Given the description of an element on the screen output the (x, y) to click on. 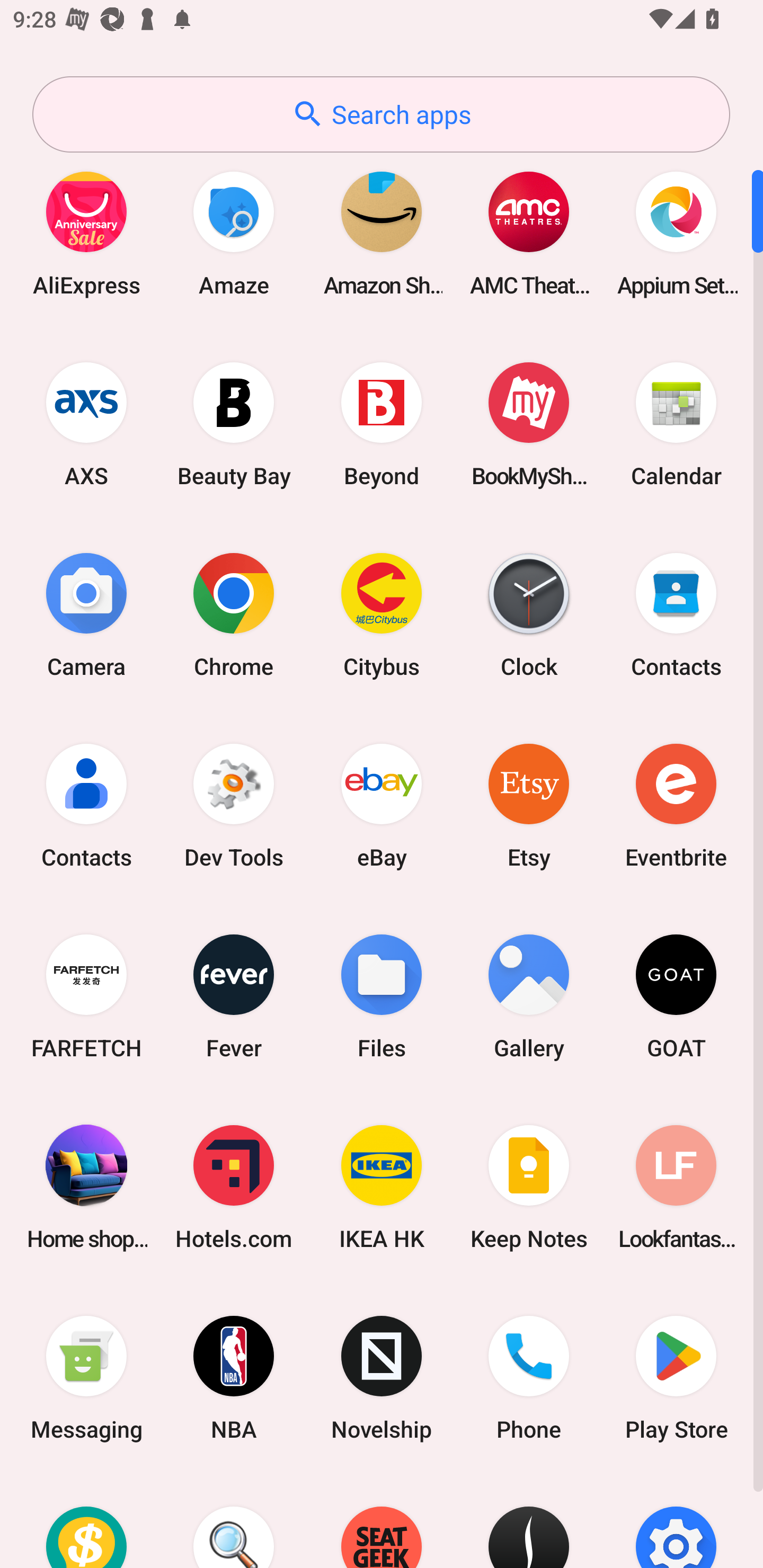
  Search apps (381, 114)
AliExpress (86, 233)
Amaze (233, 233)
Amazon Shopping (381, 233)
AMC Theatres (528, 233)
Appium Settings (676, 233)
AXS (86, 424)
Beauty Bay (233, 424)
Beyond (381, 424)
BookMyShow (528, 424)
Calendar (676, 424)
Camera (86, 614)
Chrome (233, 614)
Citybus (381, 614)
Clock (528, 614)
Contacts (676, 614)
Contacts (86, 805)
Dev Tools (233, 805)
eBay (381, 805)
Etsy (528, 805)
Eventbrite (676, 805)
FARFETCH (86, 996)
Fever (233, 996)
Files (381, 996)
Gallery (528, 996)
GOAT (676, 996)
Home shopping (86, 1186)
Hotels.com (233, 1186)
IKEA HK (381, 1186)
Keep Notes (528, 1186)
Lookfantastic (676, 1186)
Messaging (86, 1377)
NBA (233, 1377)
Novelship (381, 1377)
Phone (528, 1377)
Play Store (676, 1377)
